Given the description of an element on the screen output the (x, y) to click on. 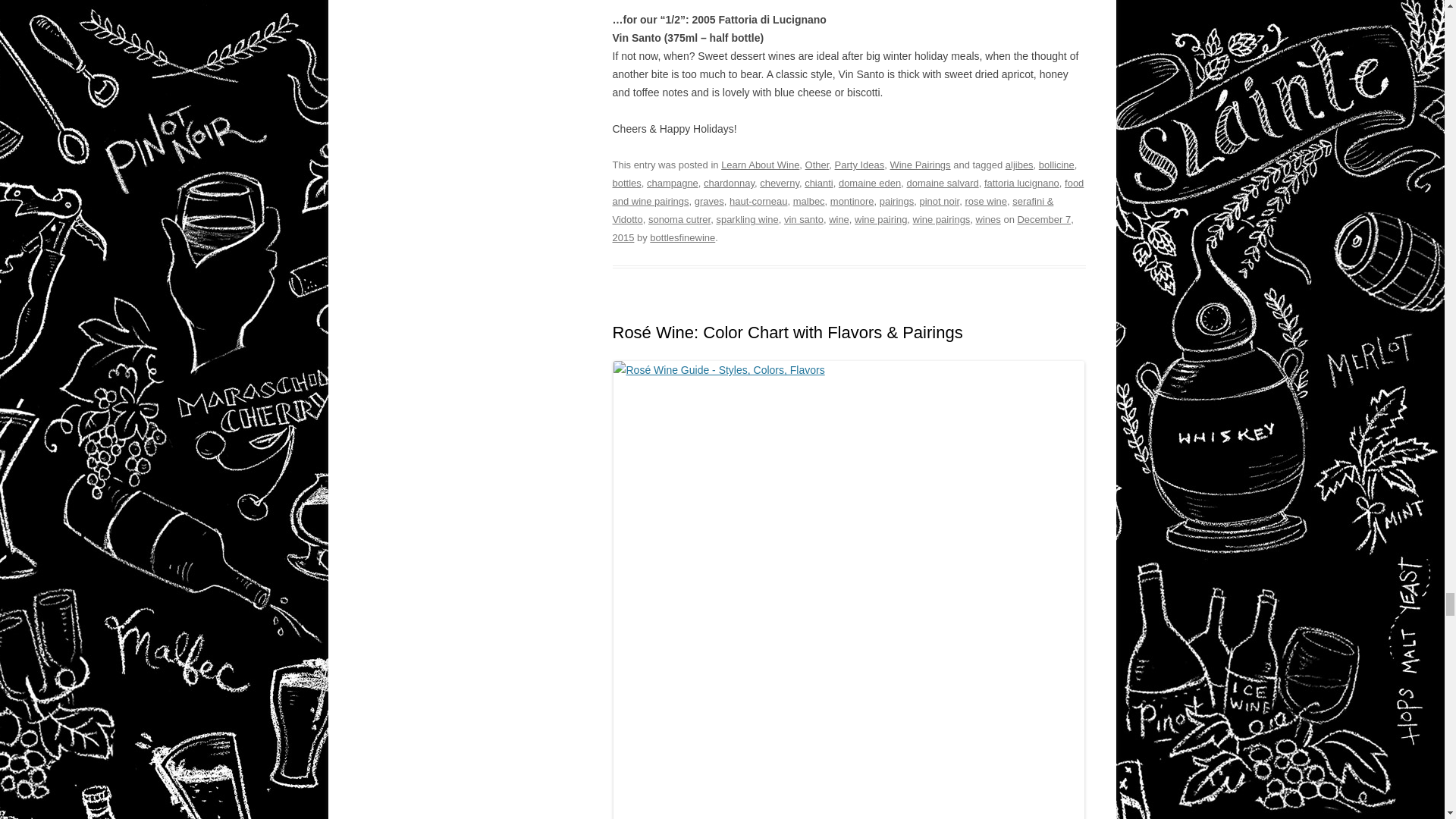
7:56 PM (843, 228)
View all posts by bottlesfinewine (681, 237)
